Given the description of an element on the screen output the (x, y) to click on. 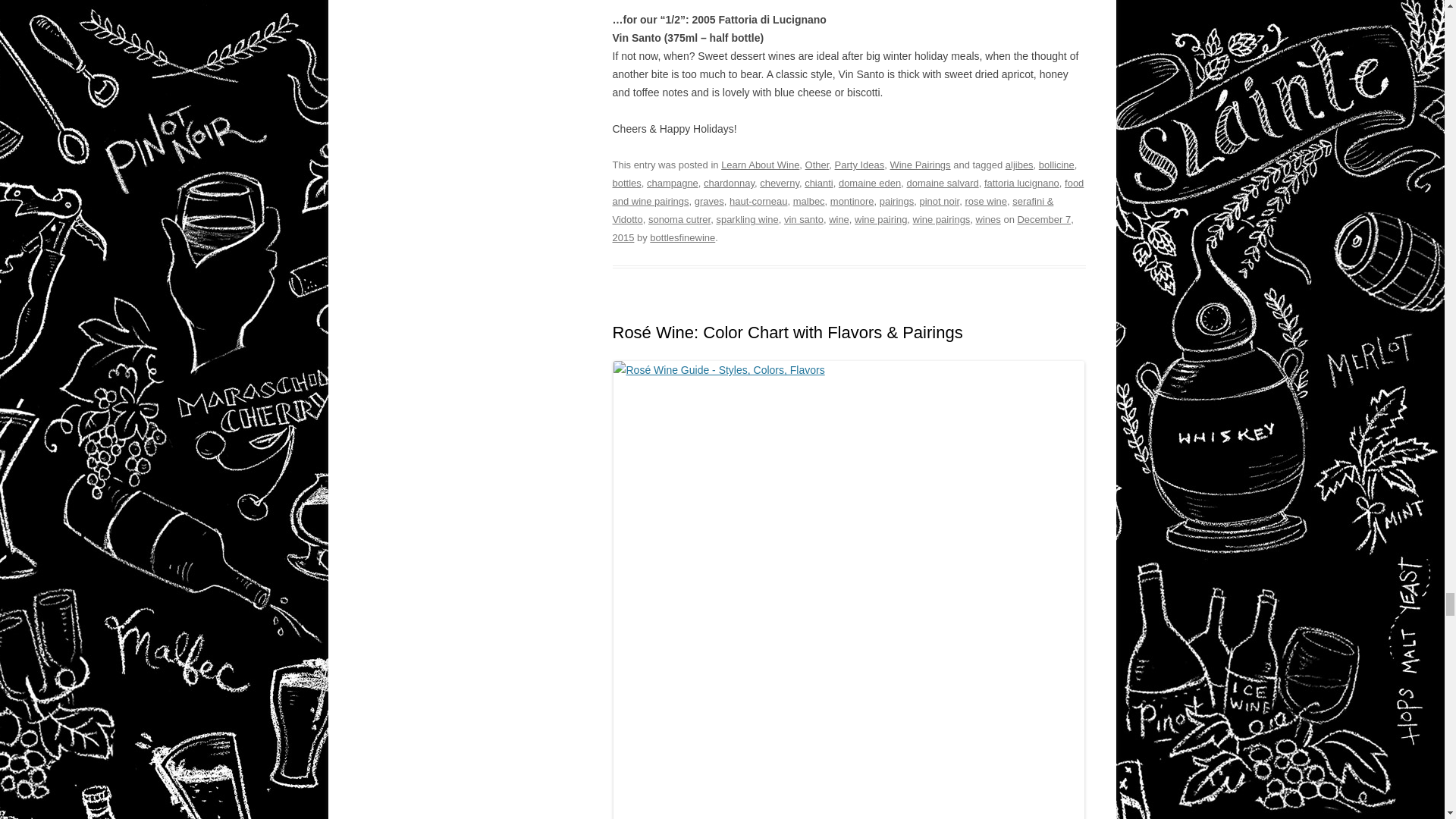
7:56 PM (843, 228)
View all posts by bottlesfinewine (681, 237)
